Given the description of an element on the screen output the (x, y) to click on. 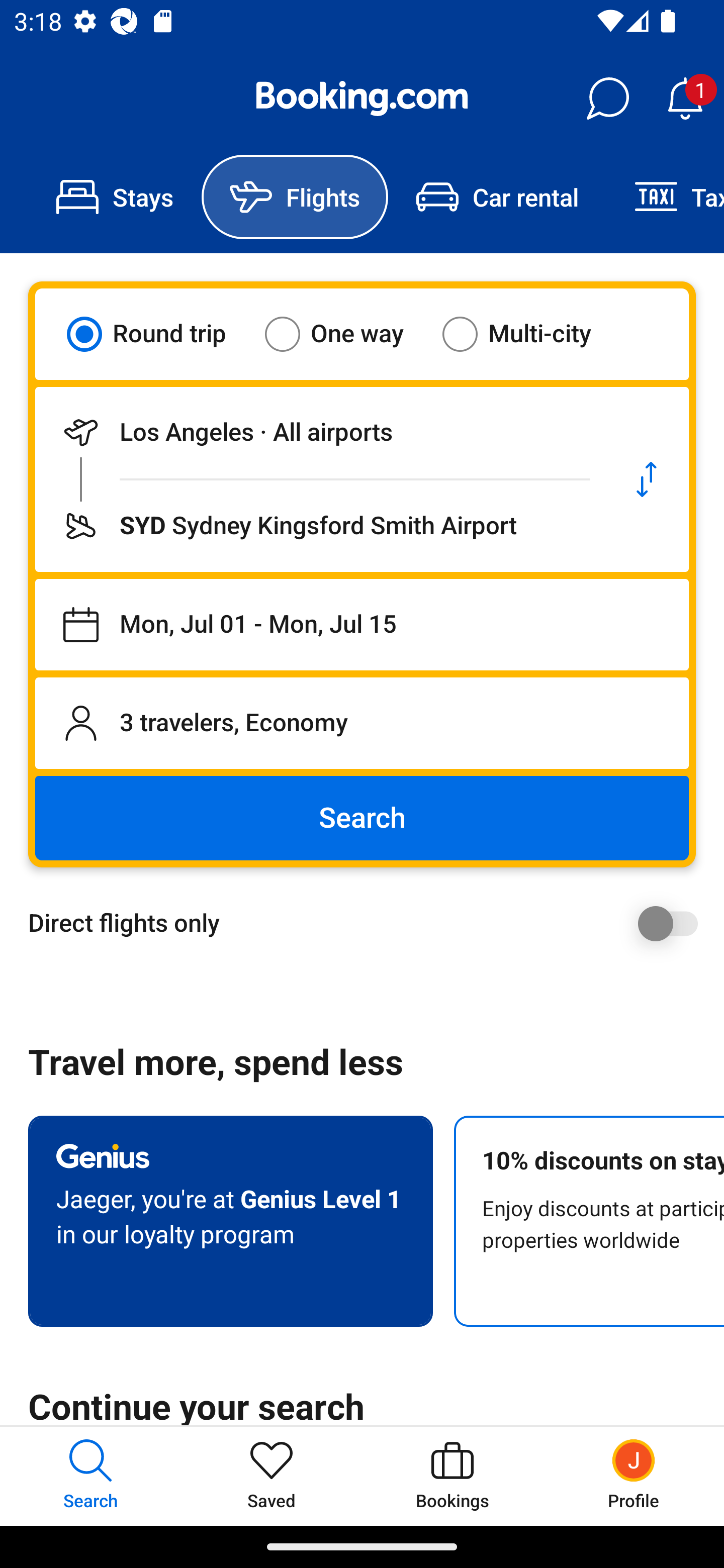
Messages (607, 98)
Notifications (685, 98)
Stays (114, 197)
Flights (294, 197)
Car rental (497, 197)
Taxi (665, 197)
One way (346, 333)
Multi-city (528, 333)
Departing from Los Angeles · All airports (319, 432)
Swap departure location and destination (646, 479)
Flying to SYD Sydney Kingsford Smith Airport (319, 525)
Departing on Mon, Jul 01, returning on Mon, Jul 15 (361, 624)
3 travelers, Economy (361, 722)
Search (361, 818)
Direct flights only (369, 923)
Saved (271, 1475)
Bookings (452, 1475)
Profile (633, 1475)
